Given the description of an element on the screen output the (x, y) to click on. 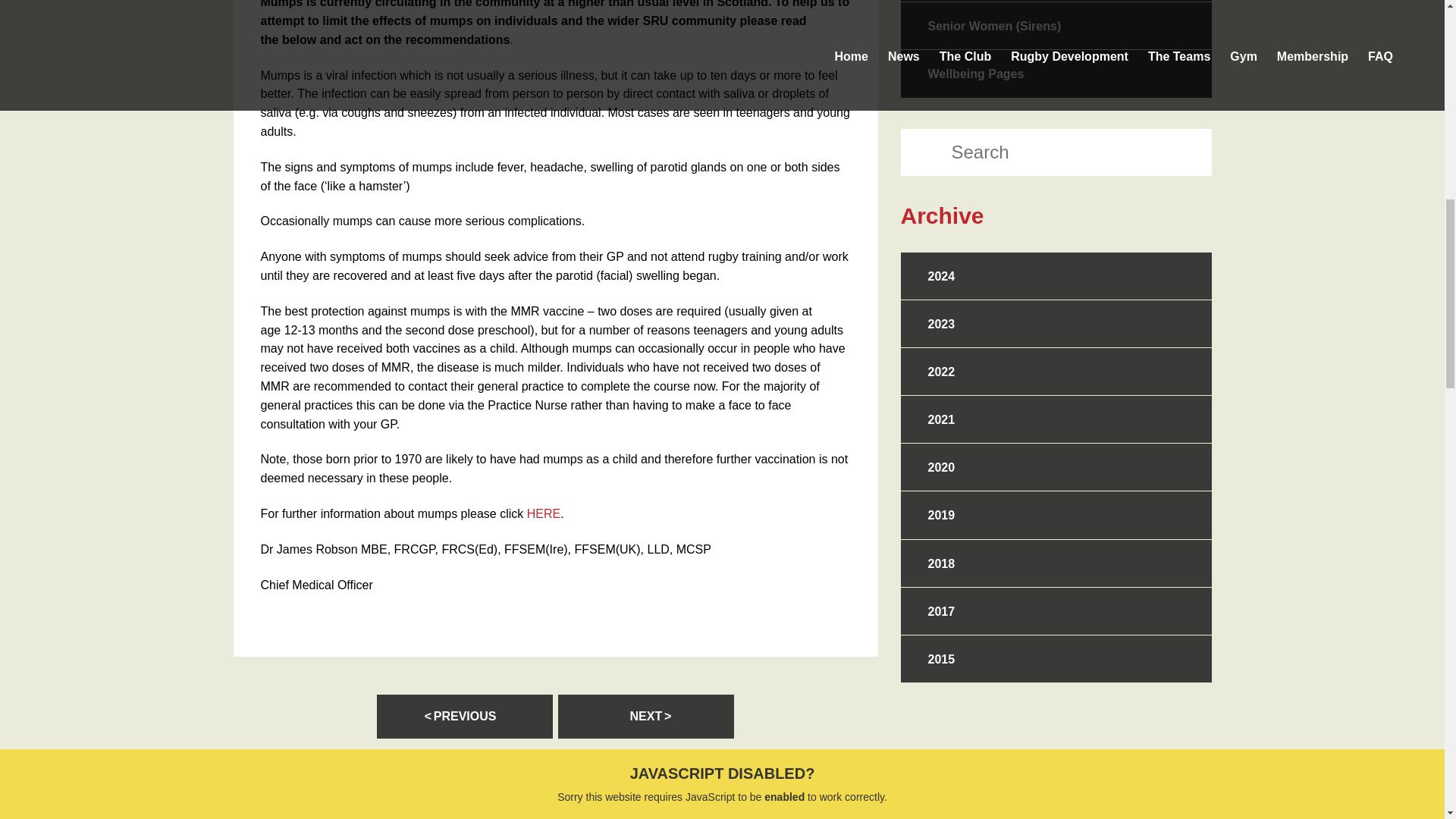
12-13 (299, 329)
Sirens defeated in Edinburgh by Corstorphine Cougars (465, 716)
1970 (408, 459)
NEXT (645, 716)
HERE (543, 513)
PREVIOUS (465, 716)
